Given the description of an element on the screen output the (x, y) to click on. 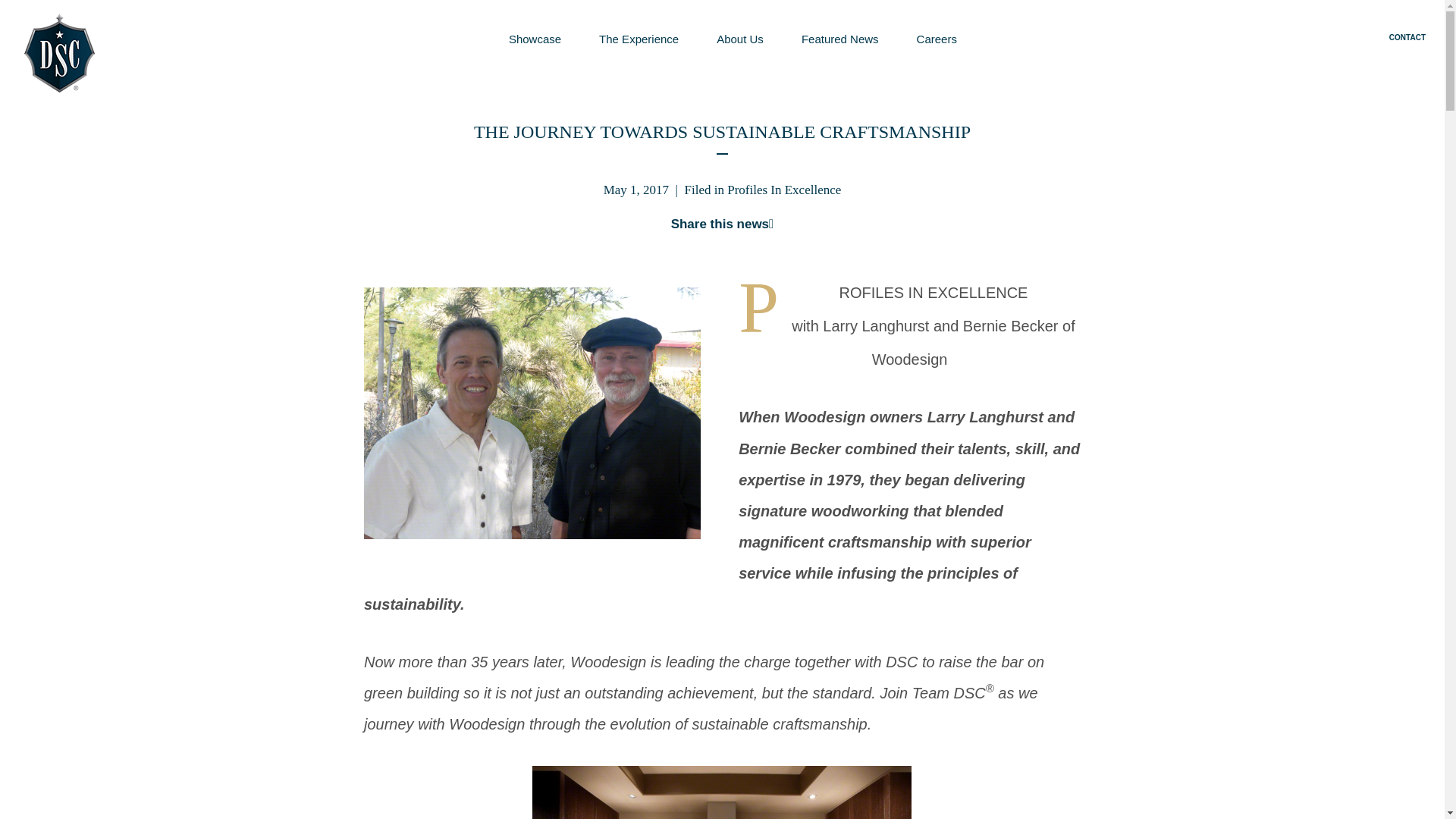
About Us (740, 39)
About Us (740, 39)
The Experience (638, 39)
Profiles In Excellence (783, 189)
Showcase (534, 39)
Share this news (722, 223)
The Experience (638, 39)
Showcase (534, 39)
Featured News (840, 39)
Featured News (840, 39)
